Given the description of an element on the screen output the (x, y) to click on. 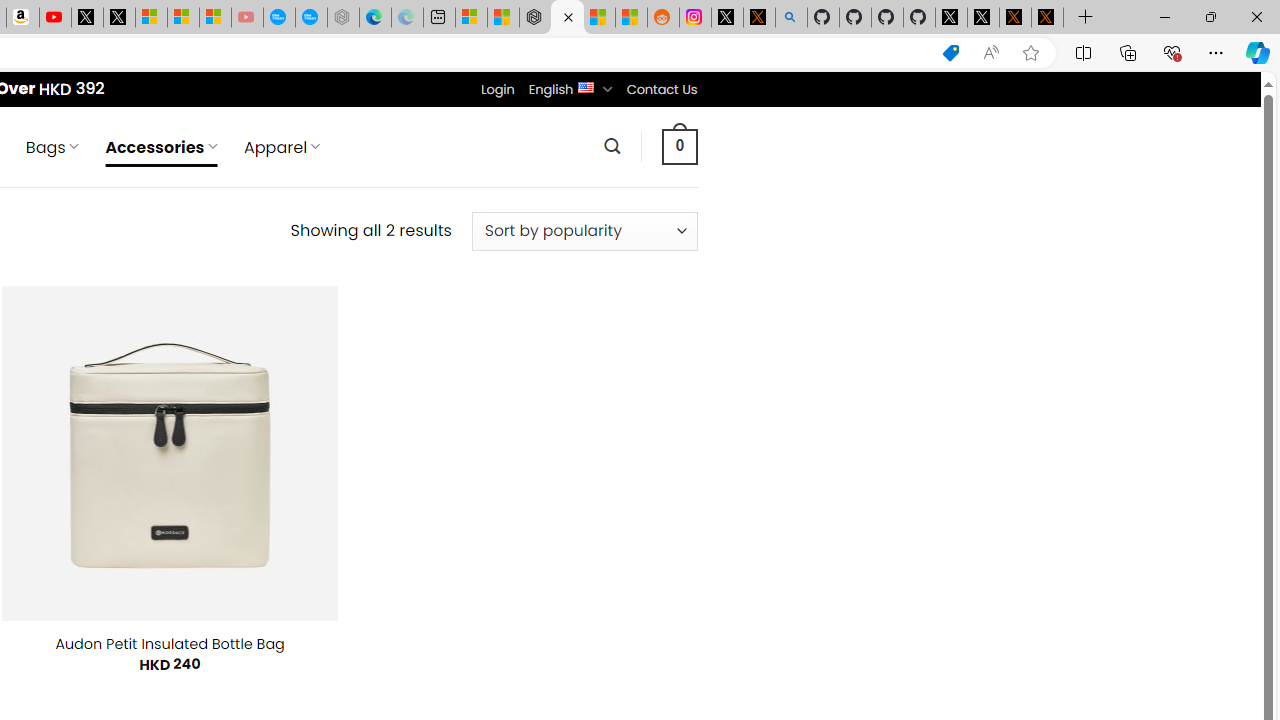
Gloom - YouTube - Sleeping (246, 17)
Shop order (584, 231)
github - Search (791, 17)
GitHub (@github) / X (983, 17)
Nordace - Baby Gear (566, 17)
